Given the description of an element on the screen output the (x, y) to click on. 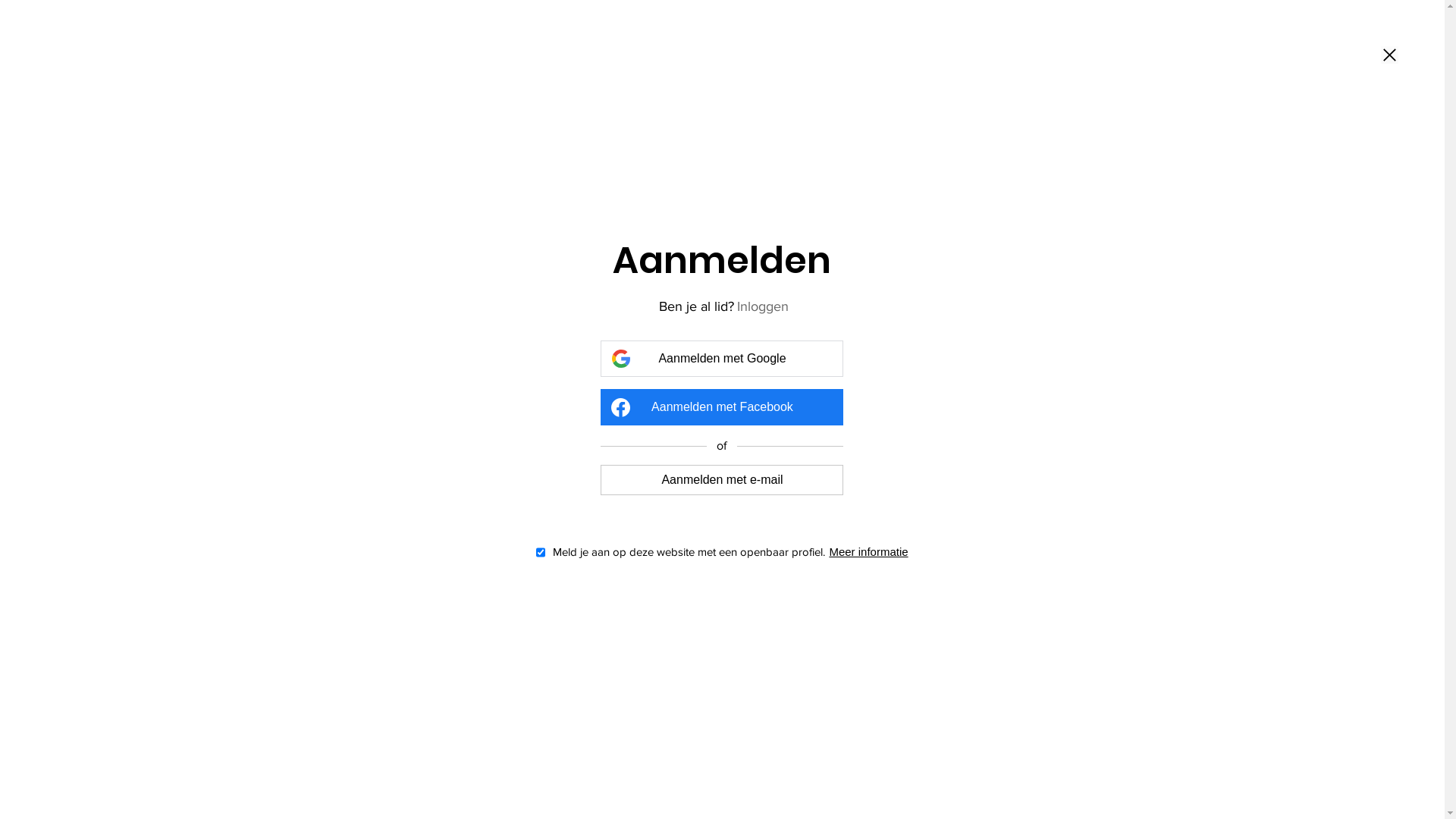
Aanmelden met Google Element type: text (721, 358)
Aanmelden met e-mail Element type: text (721, 479)
Meer informatie Element type: text (867, 551)
Aanmelden met Facebook Element type: text (721, 407)
Inloggen Element type: text (762, 306)
